Given the description of an element on the screen output the (x, y) to click on. 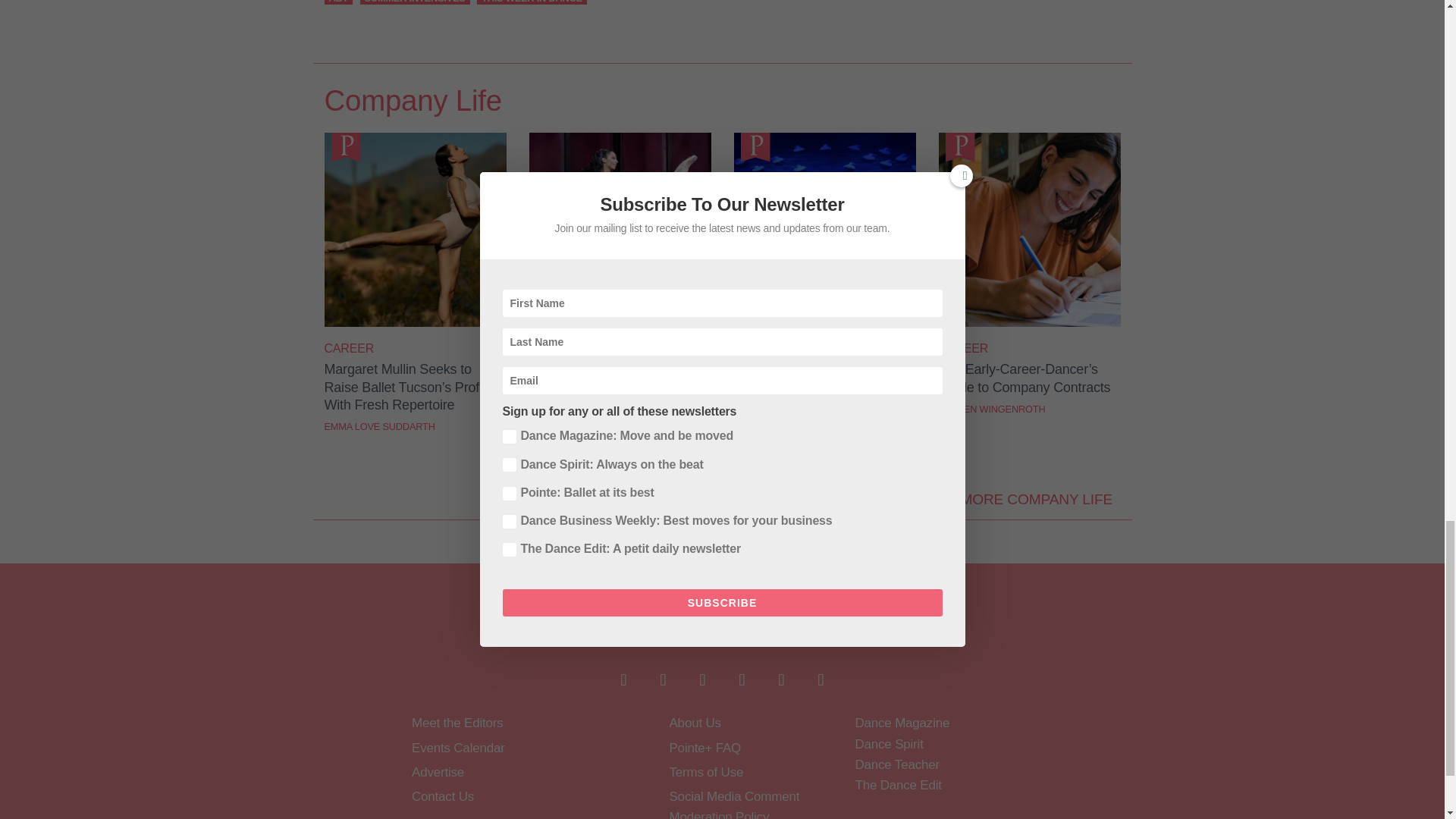
Follow on Youtube (741, 679)
Follow on Instagram (702, 679)
Follow on Twitter (662, 679)
Follow on Pinterest (780, 679)
Follow on Facebook (623, 679)
